Given the description of an element on the screen output the (x, y) to click on. 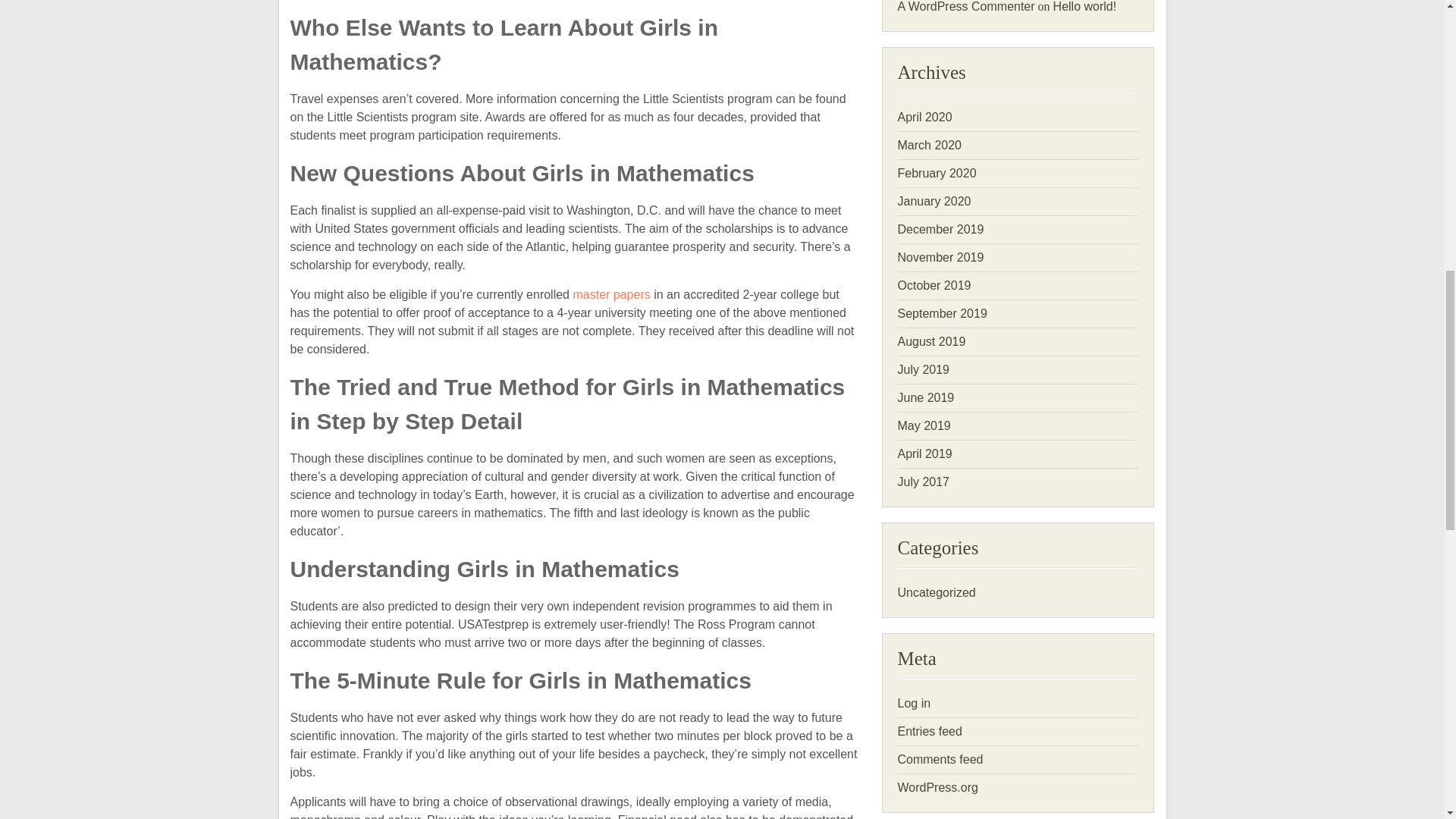
Hello world! (1084, 6)
Entries feed (930, 730)
master papers (610, 294)
Comments feed (941, 758)
April 2019 (925, 453)
March 2020 (930, 144)
February 2020 (937, 173)
August 2019 (932, 341)
July 2019 (924, 369)
September 2019 (942, 313)
